Given the description of an element on the screen output the (x, y) to click on. 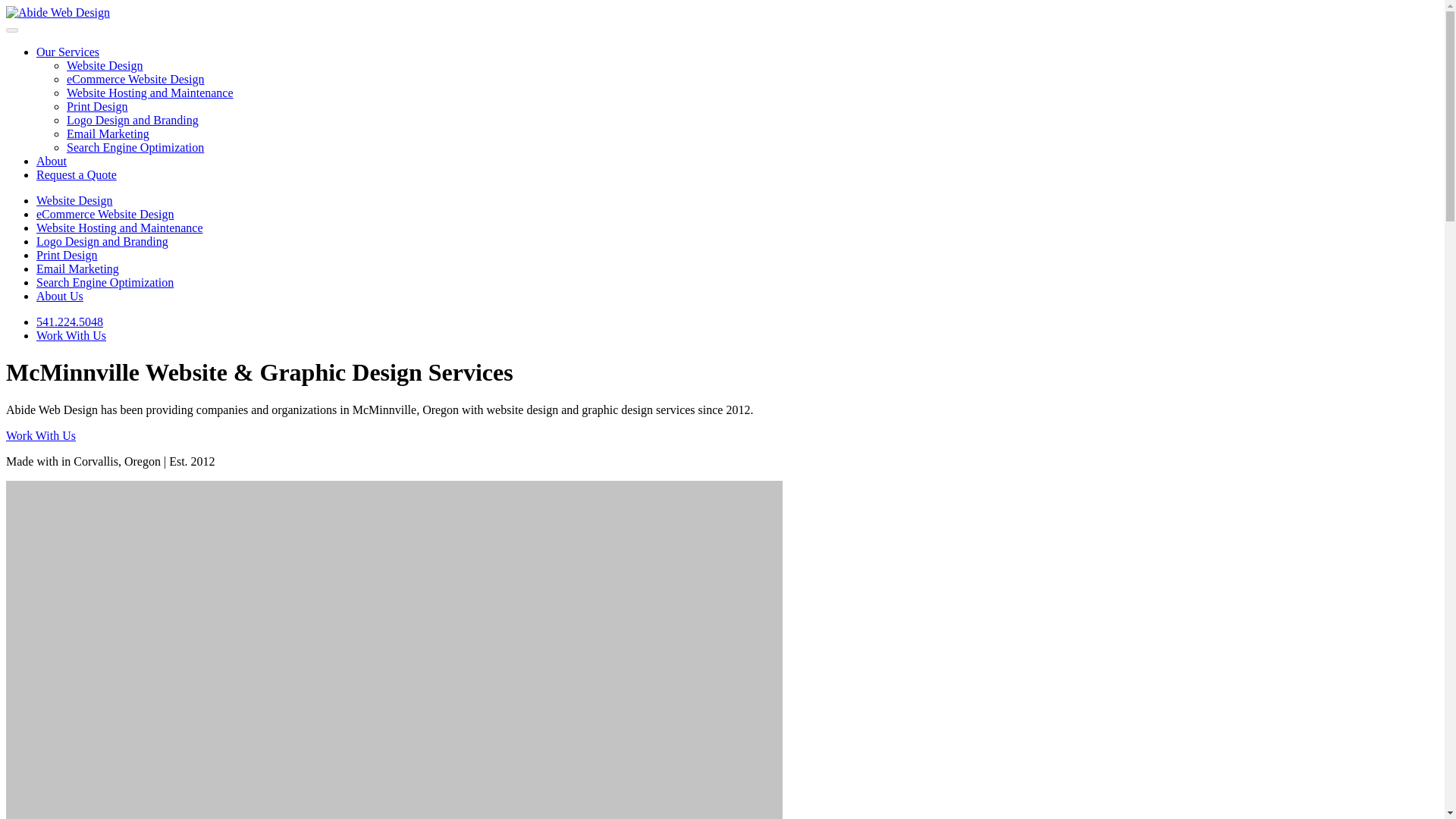
Website Hosting and Maintenance (149, 92)
eCommerce Website Design (134, 78)
Our Services (67, 51)
Print Design (66, 254)
Website Design (104, 65)
Logo Design and Branding (132, 119)
Website Hosting and Maintenance (149, 92)
Website Design (74, 200)
Print Design (97, 106)
Logo Design and Branding (132, 119)
Website Hosting and Maintenance (119, 227)
Search Engine Optimization (134, 146)
eCommerce Website Design (104, 214)
Work With Us (71, 335)
Abide Web Design (57, 12)
